Given the description of an element on the screen output the (x, y) to click on. 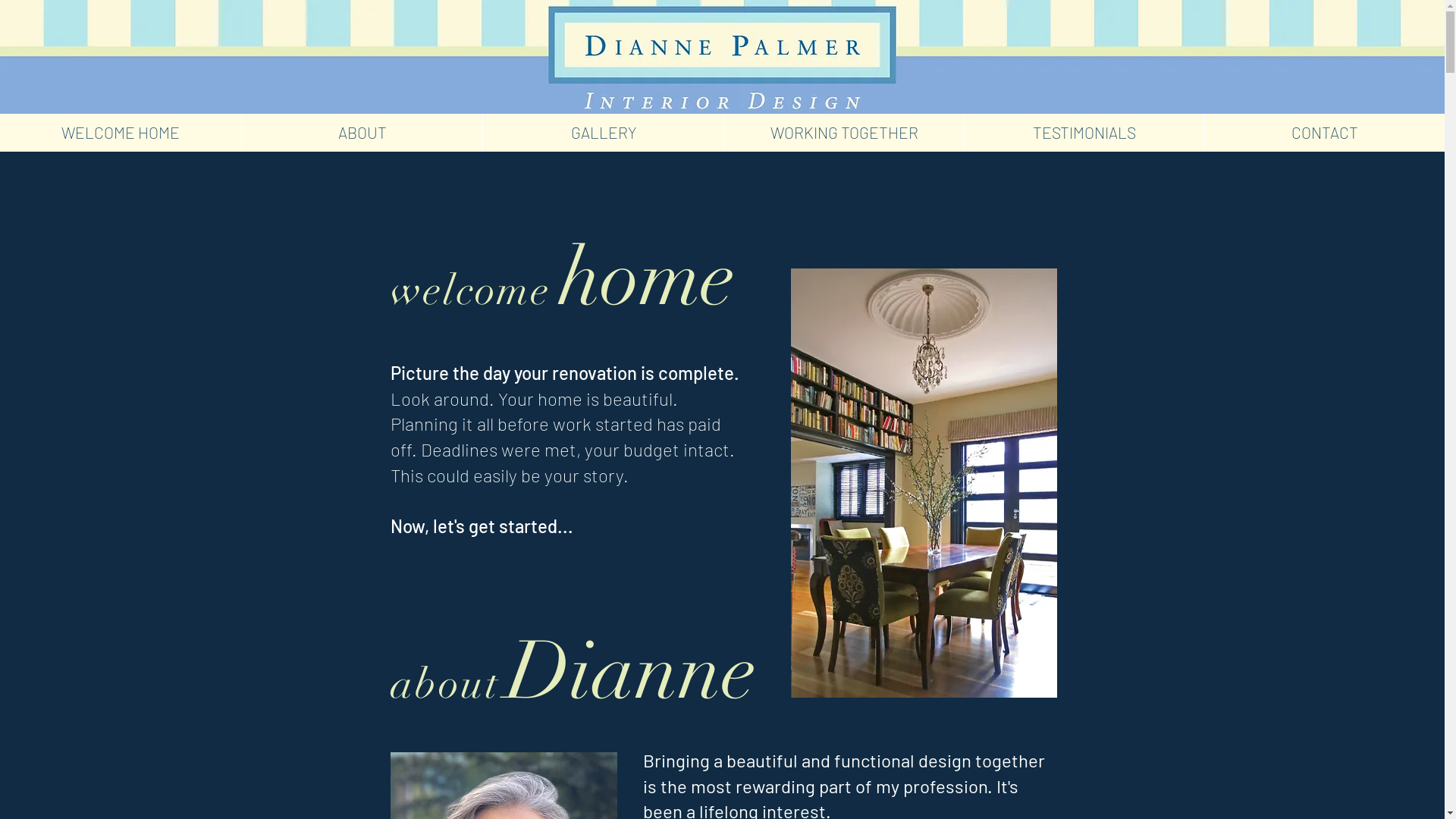
WORKING TOGETHER Element type: text (843, 132)
TESTIMONIALS Element type: text (1083, 132)
CONTACT Element type: text (1324, 132)
GALLERY Element type: text (602, 132)
ABOUT Element type: text (361, 132)
WELCOME HOME Element type: text (120, 132)
